Given the description of an element on the screen output the (x, y) to click on. 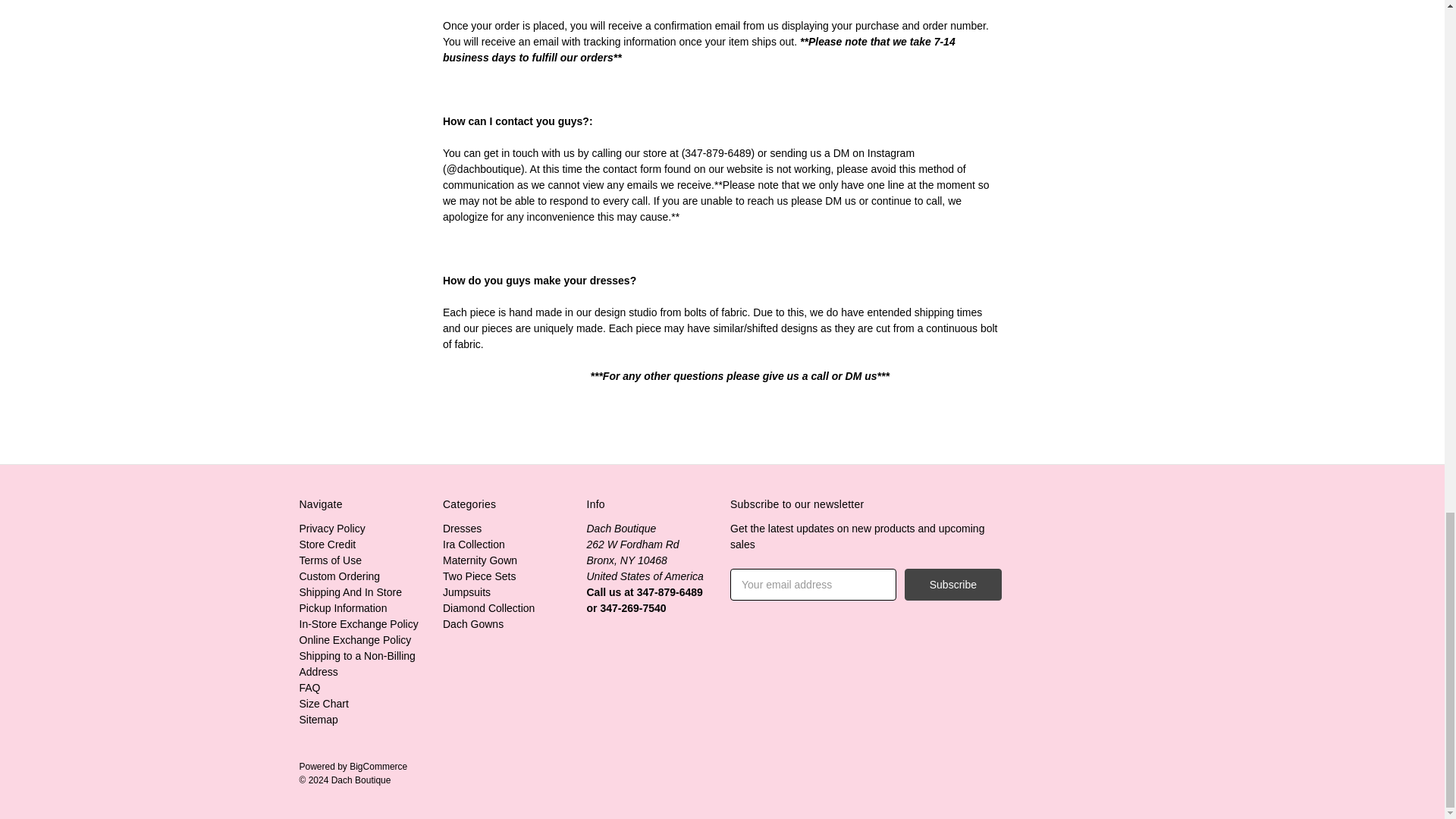
Custom Ordering (339, 576)
Online Exchange Policy (354, 639)
Subscribe (952, 584)
Store Credit (326, 544)
Terms of Use (329, 560)
Shipping to a Non-Billing Address (356, 664)
In-Store Exchange Policy (357, 623)
FAQ (309, 687)
Privacy Policy (331, 528)
Shipping And In Store Pickup Information (349, 600)
